Given the description of an element on the screen output the (x, y) to click on. 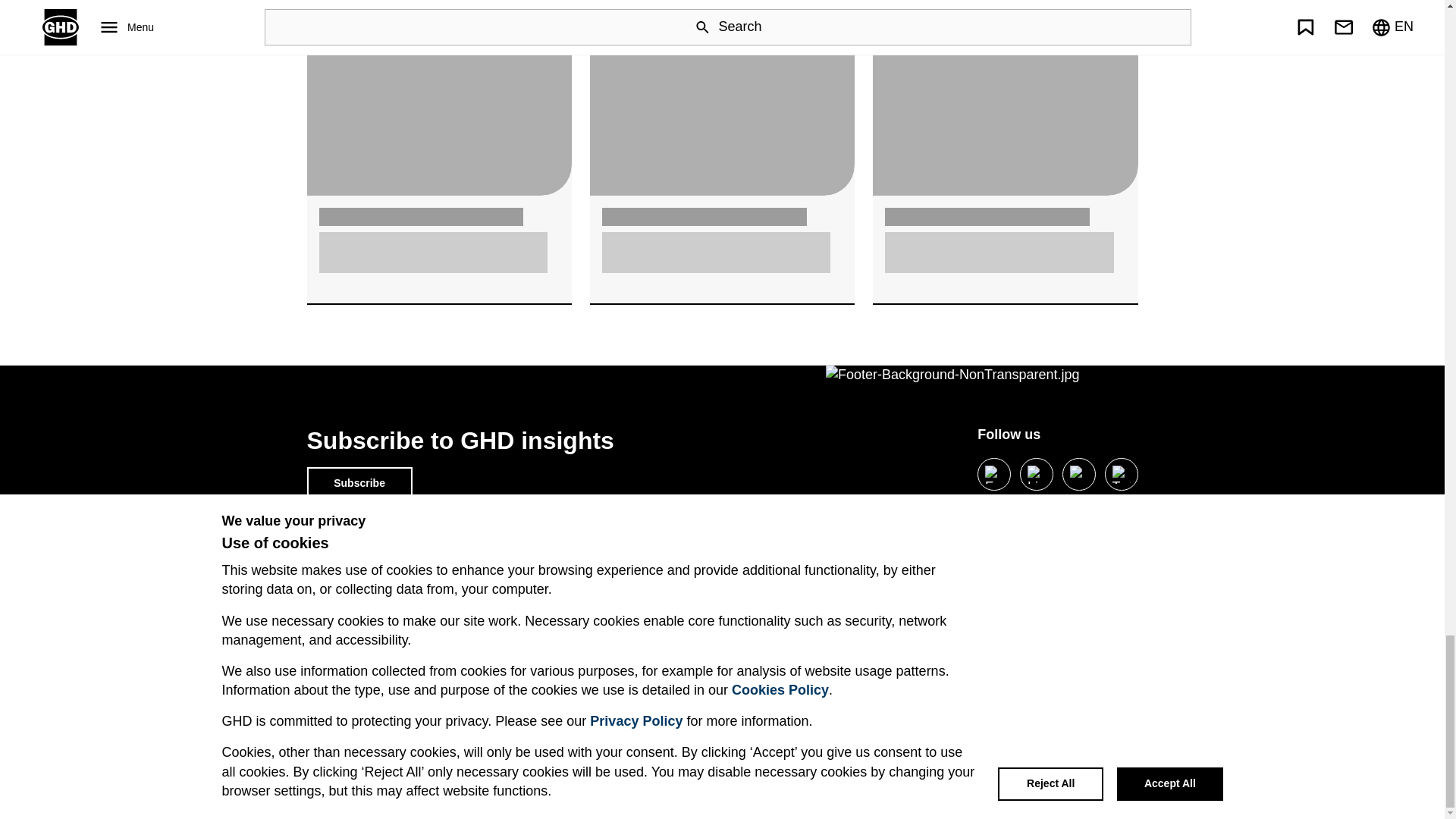
Integrity management (781, 606)
Quality Management Systems (588, 682)
Legal notices (337, 657)
Terms of Use (336, 632)
Policy statement (347, 682)
Privacy policy (338, 606)
Modern day slavery statement  (589, 606)
Marketing and communications (803, 632)
Terms of Use (336, 632)
